Given the description of an element on the screen output the (x, y) to click on. 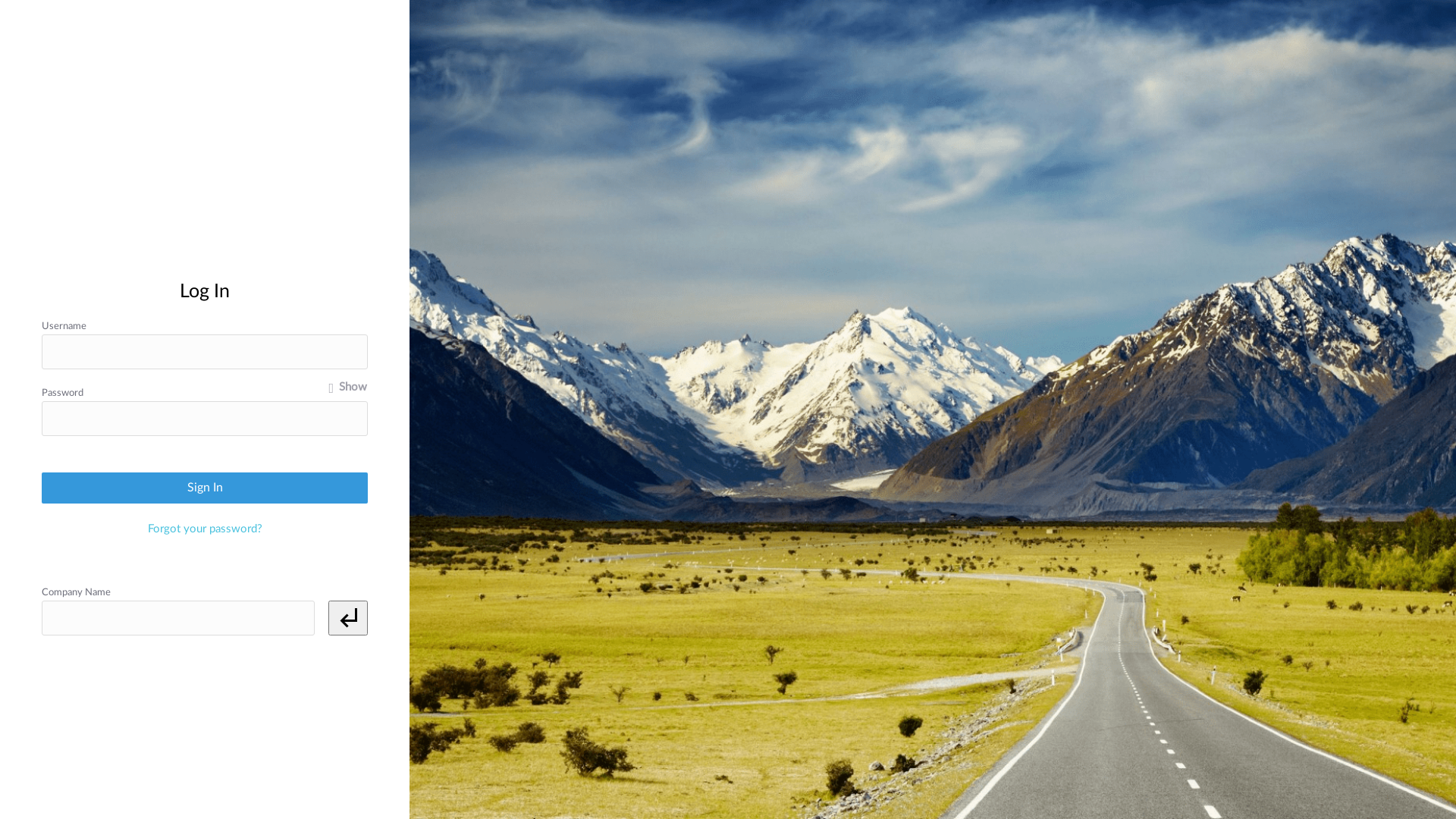
Request a new password Element type: text (204, 441)
Show Element type: text (347, 388)
Log in Element type: text (204, 400)
Forgot your password? Element type: text (204, 528)
Log in Element type: text (204, 348)
Sign In Element type: text (204, 487)
Continue Element type: text (204, 389)
